Given the description of an element on the screen output the (x, y) to click on. 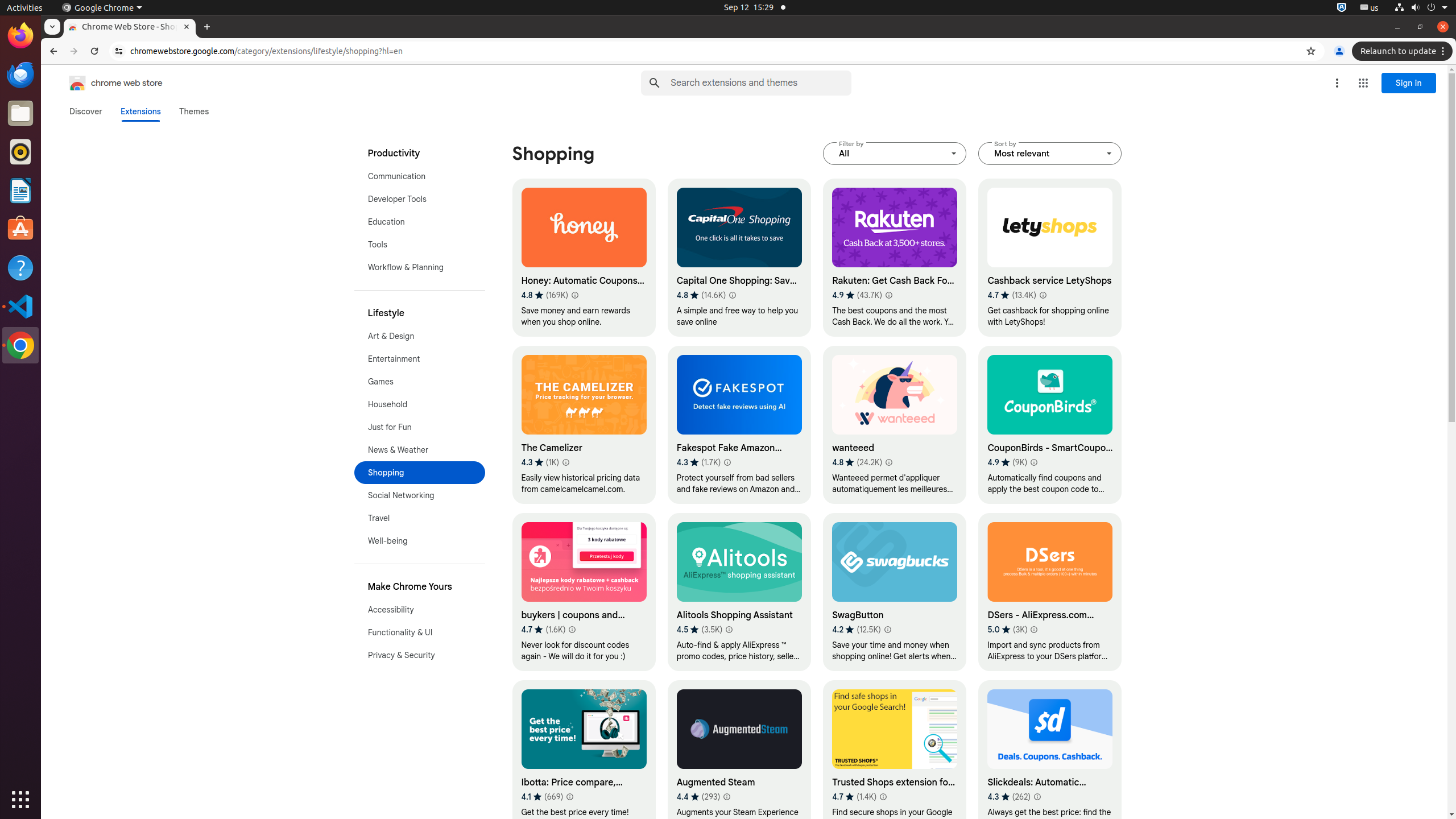
Alitools Shopping Assistant Element type: link (739, 592)
Learn more about results and reviews "Cashback service LetyShops" Element type: push-button (1042, 295)
Learn more about results and reviews "SwagButton" Element type: push-button (886, 629)
You Element type: push-button (1339, 50)
Learn more about results and reviews "Honey: Automatic Coupons & Rewards" Element type: push-button (574, 295)
